Given the description of an element on the screen output the (x, y) to click on. 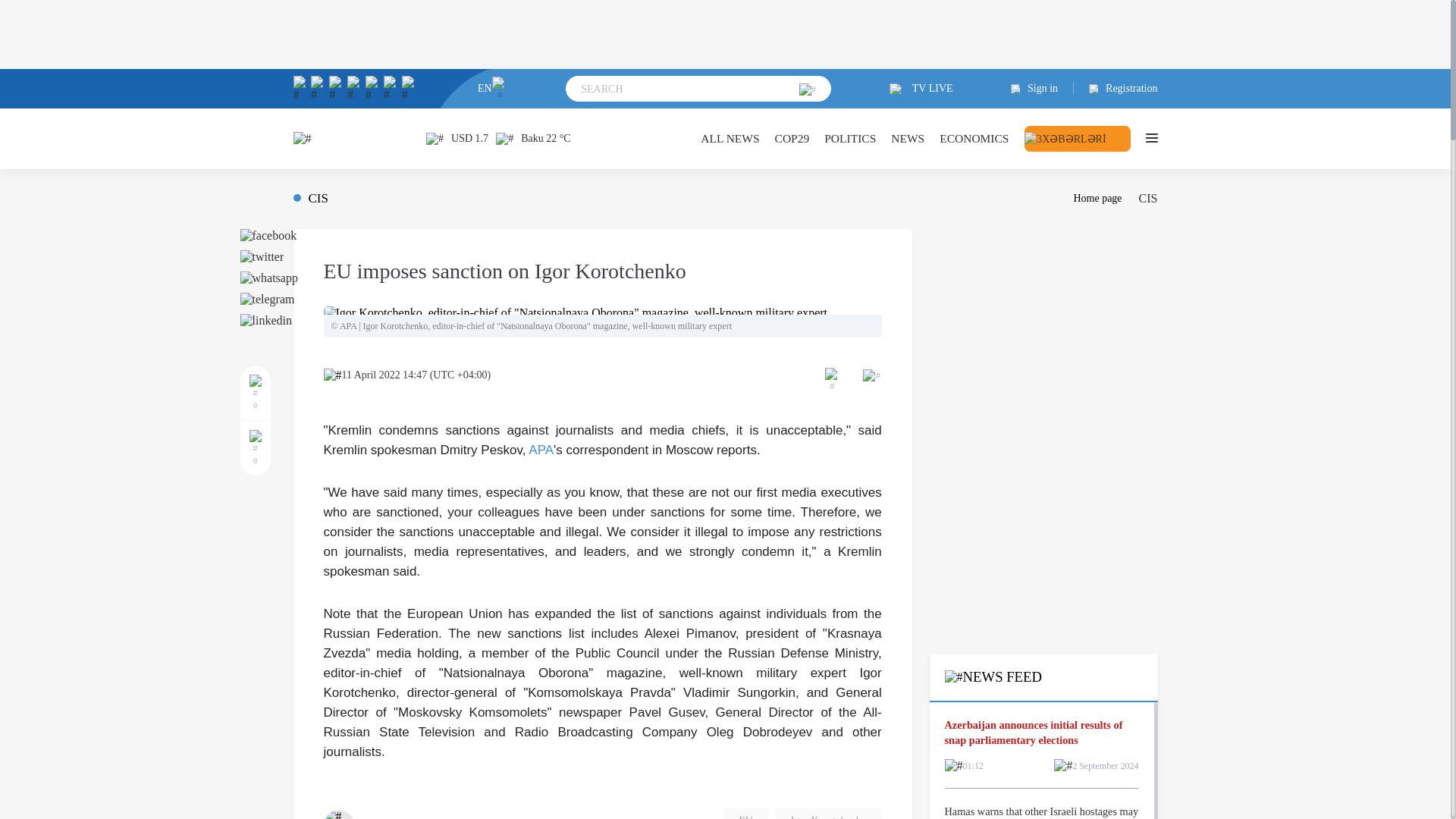
Sign in (1042, 88)
NEWS (907, 138)
TV LIVE (921, 88)
COP29 (791, 138)
POLITICS (850, 138)
Registration (1115, 88)
USD 1.7 (456, 138)
ALL NEWS (729, 138)
ECONOMICS (974, 138)
